Given the description of an element on the screen output the (x, y) to click on. 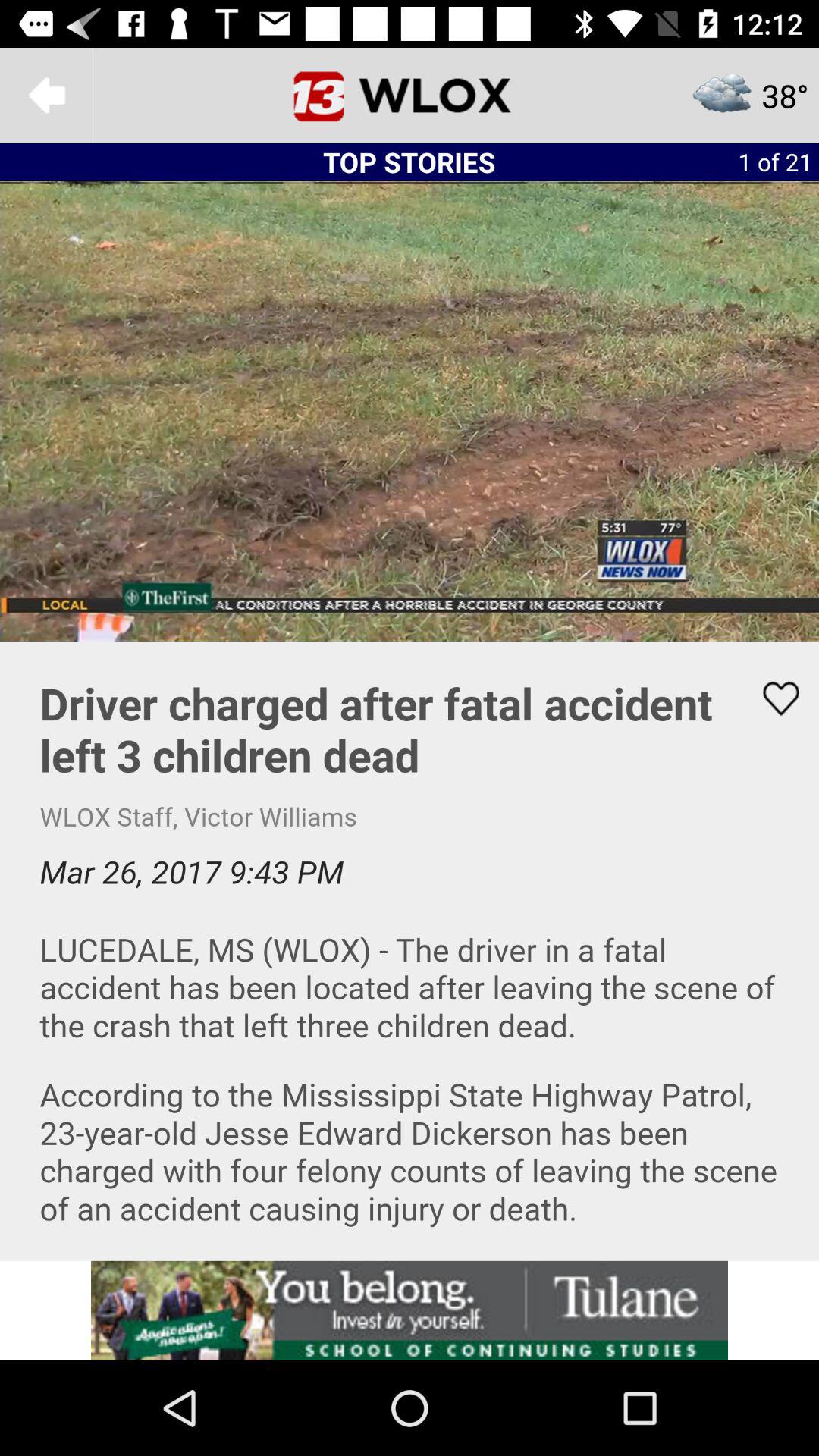
go to advertisement website (409, 1310)
